Given the description of an element on the screen output the (x, y) to click on. 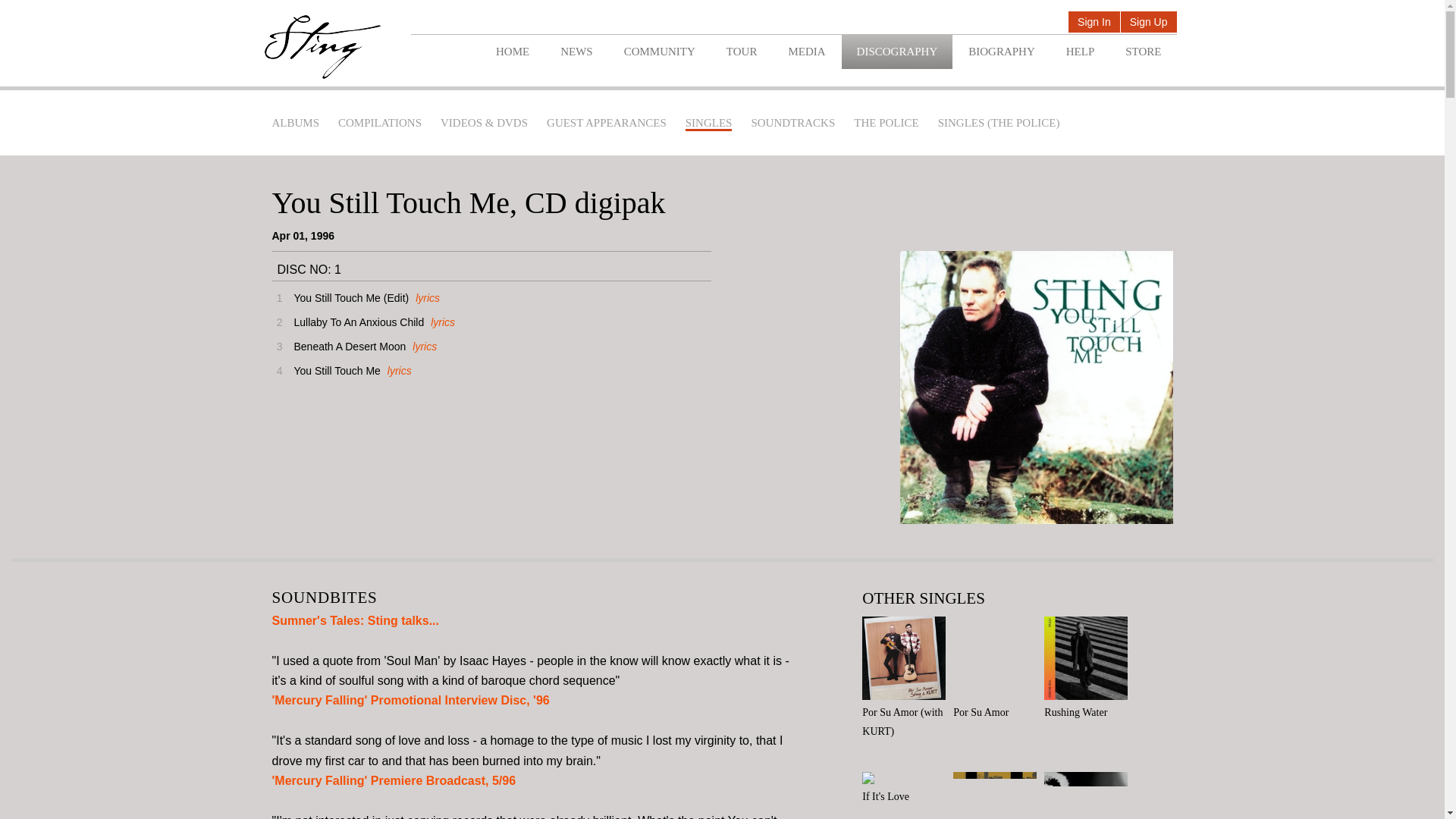
BIOGRAPHY (1001, 51)
THE POLICE (885, 122)
ALBUMS (294, 122)
SOUNDTRACKS (792, 122)
HOME (512, 51)
COMMUNITY (659, 51)
Sign In (1093, 22)
Sting (321, 46)
lyrics (398, 370)
HELP (1080, 51)
GUEST APPEARANCES (606, 122)
If It's Love (907, 789)
COMPILATIONS (379, 122)
STORE (1142, 51)
Sign Up (1148, 22)
